Given the description of an element on the screen output the (x, y) to click on. 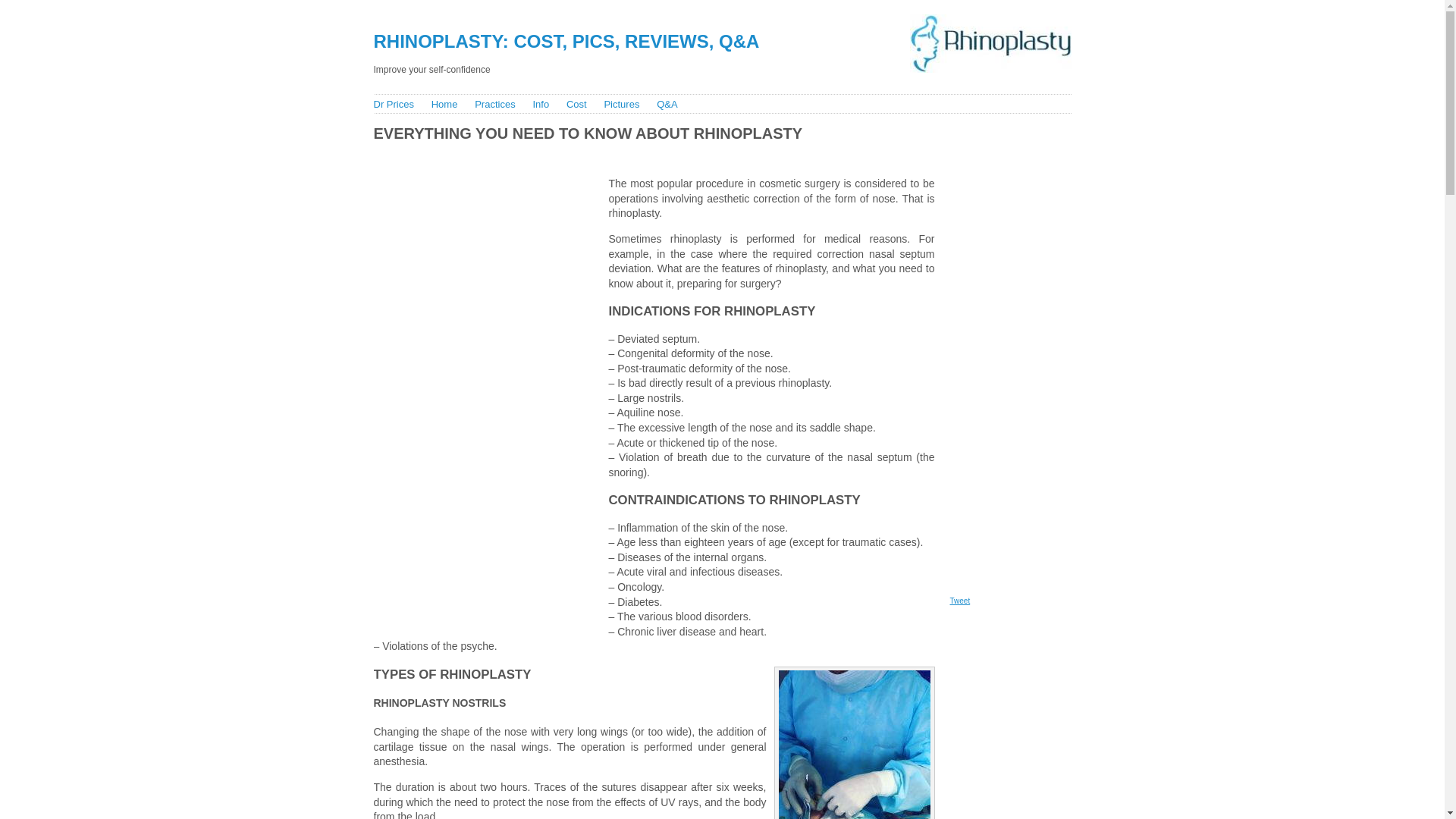
Info (540, 103)
Pictures (621, 103)
Practices (494, 103)
Dr Prices (392, 103)
Cost (576, 103)
Home (444, 103)
Tweet (959, 601)
Advertisement (645, 155)
